Given the description of an element on the screen output the (x, y) to click on. 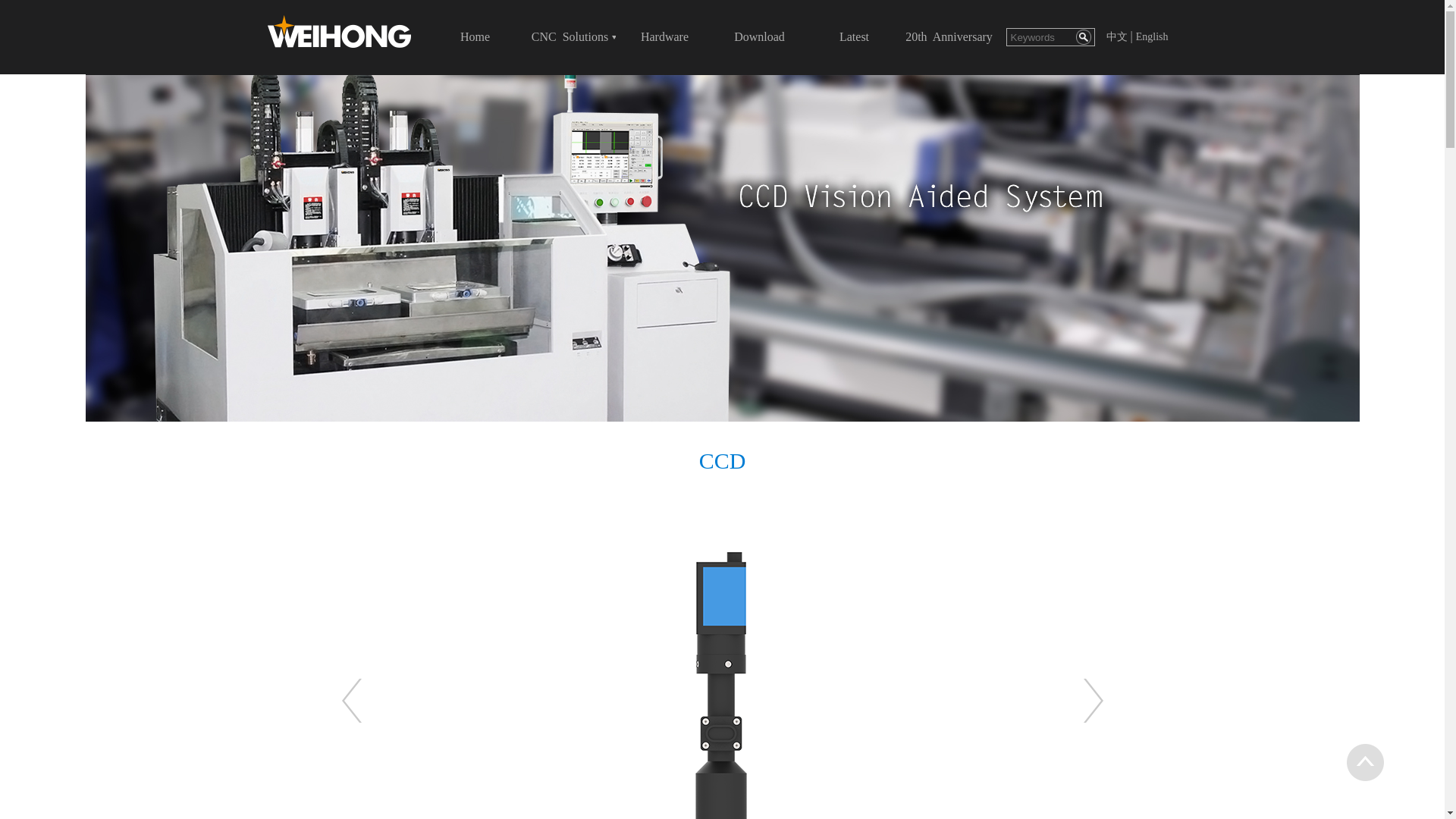
Download (759, 36)
CNC  Solutions (569, 36)
Hardware (664, 36)
20th  Anniversary (949, 36)
Latest (853, 36)
Home (474, 36)
English (1152, 36)
